Given the description of an element on the screen output the (x, y) to click on. 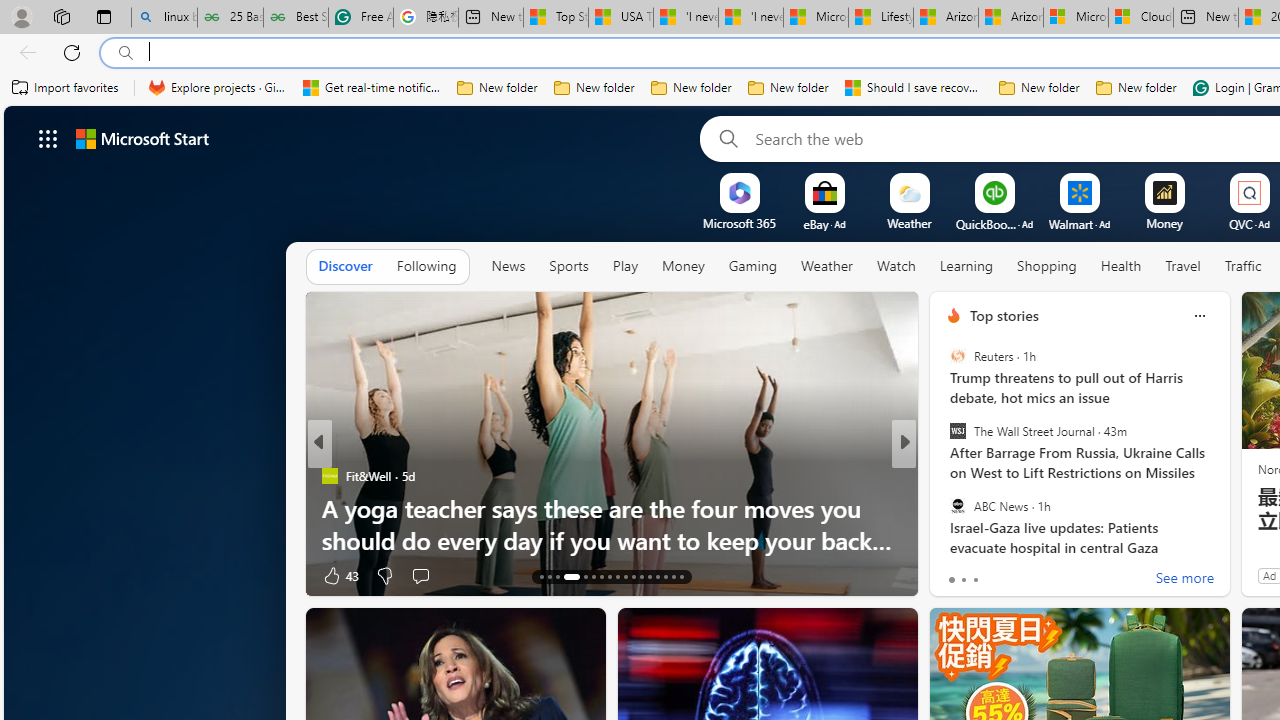
AutomationID: tab-21 (617, 576)
AutomationID: tab-27 (664, 576)
56 Like (956, 574)
Fit&Well (329, 475)
Traffic (1243, 265)
Learning (966, 267)
tab-1 (963, 579)
SlashGear (944, 475)
Play (625, 265)
Shopping (1047, 265)
99 Like (956, 574)
AutomationID: tab-15 (556, 576)
Top Stories - MSN (555, 17)
